Given the description of an element on the screen output the (x, y) to click on. 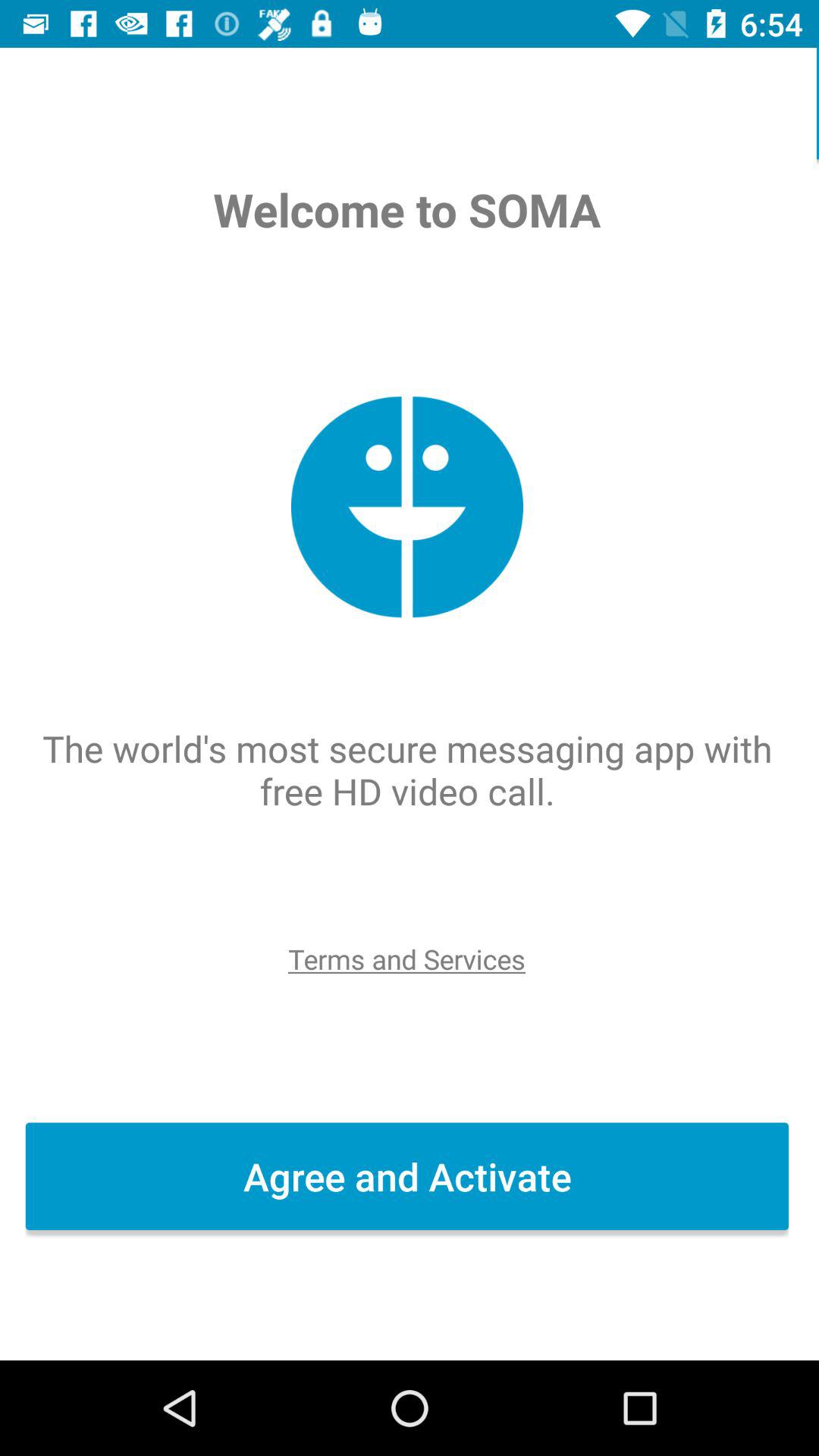
open agree and activate (409, 1176)
